Given the description of an element on the screen output the (x, y) to click on. 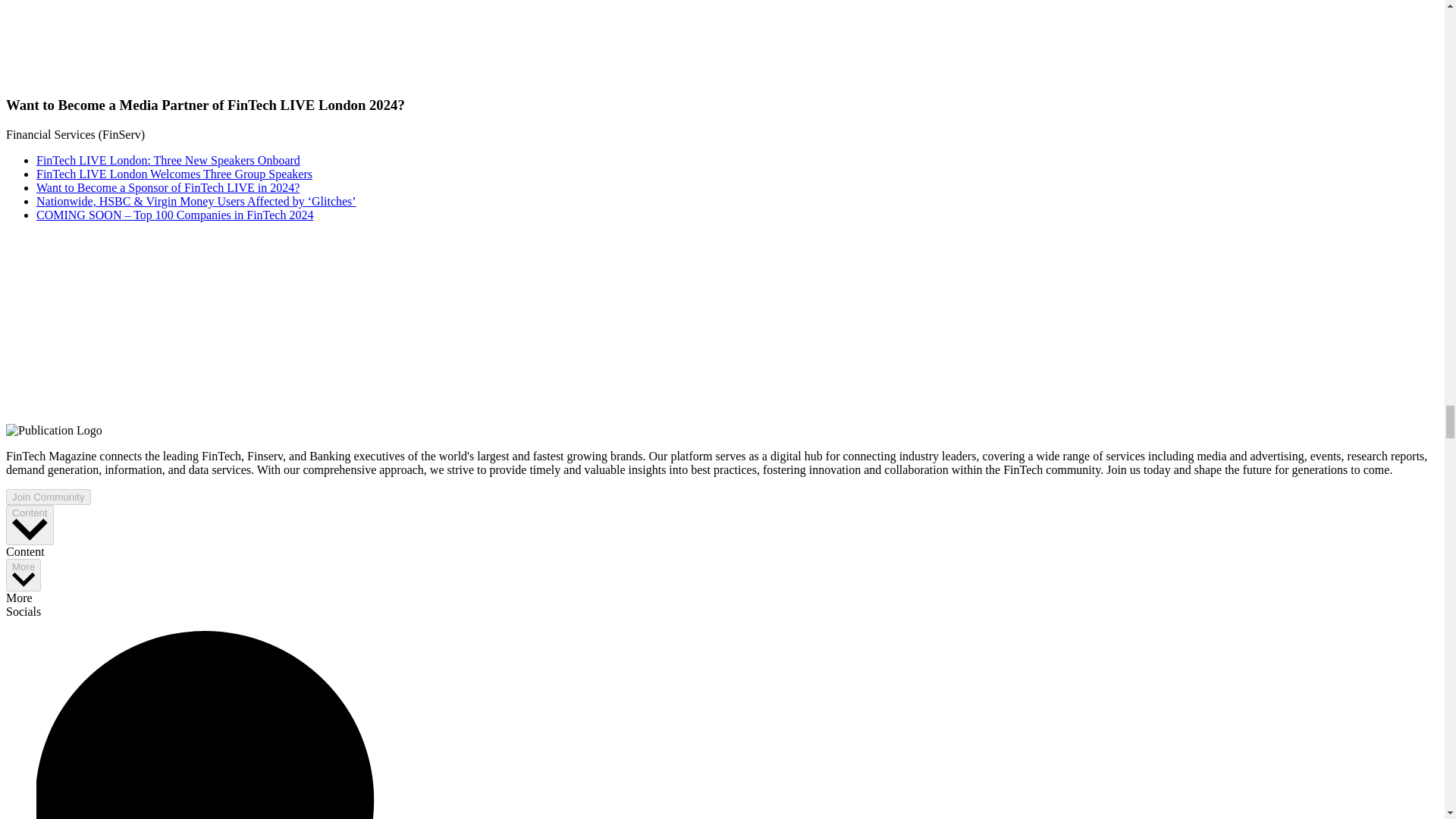
More (22, 574)
Join Community (47, 496)
Content (29, 525)
